Given the description of an element on the screen output the (x, y) to click on. 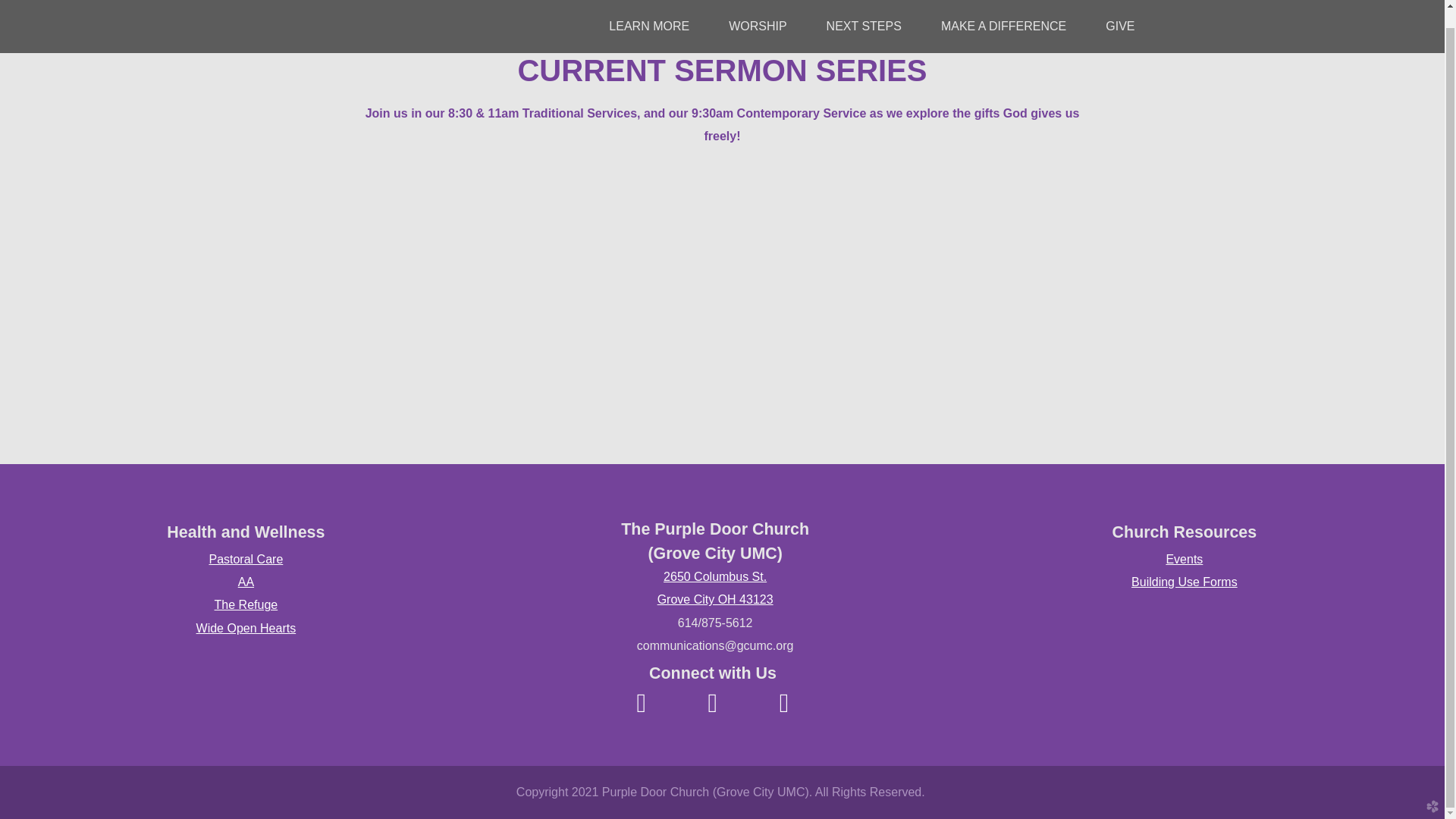
NEXT STEPS (864, 8)
MAKE A DIFFERENCE (1002, 8)
LEARN MORE (648, 8)
WORSHIP (757, 8)
